Given the description of an element on the screen output the (x, y) to click on. 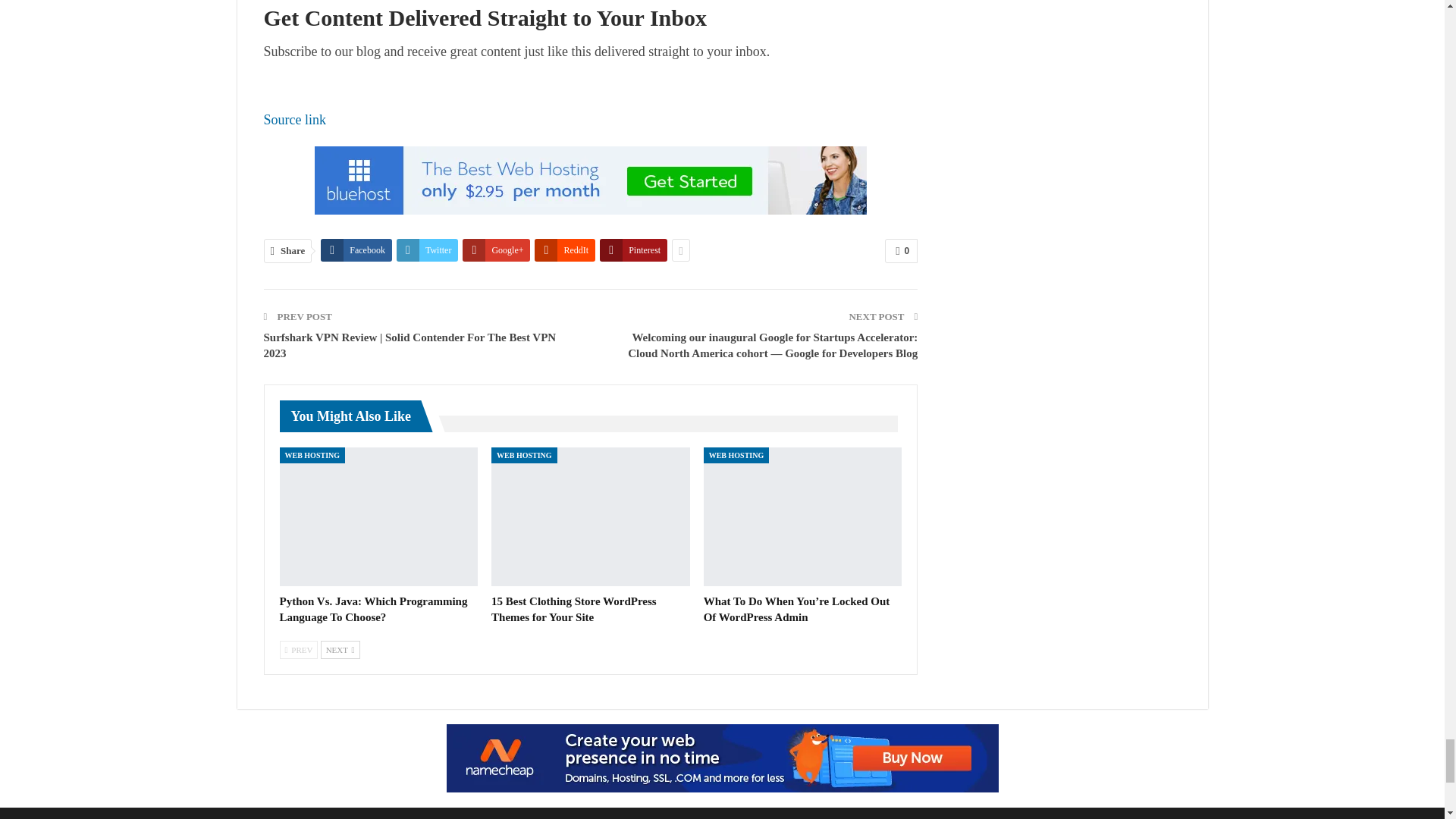
Python Vs. Java: Which Programming Language To Choose? (378, 516)
15 Best Clothing Store WordPress Themes for Your Site (591, 516)
0 (901, 250)
Pinterest (632, 250)
Python Vs. Java: Which Programming Language To Choose? (373, 609)
Source link (294, 119)
ReddIt (564, 250)
Previous (298, 649)
Facebook (355, 250)
Next (339, 649)
Twitter (427, 250)
15 Best Clothing Store WordPress Themes for Your Site (574, 609)
